Given the description of an element on the screen output the (x, y) to click on. 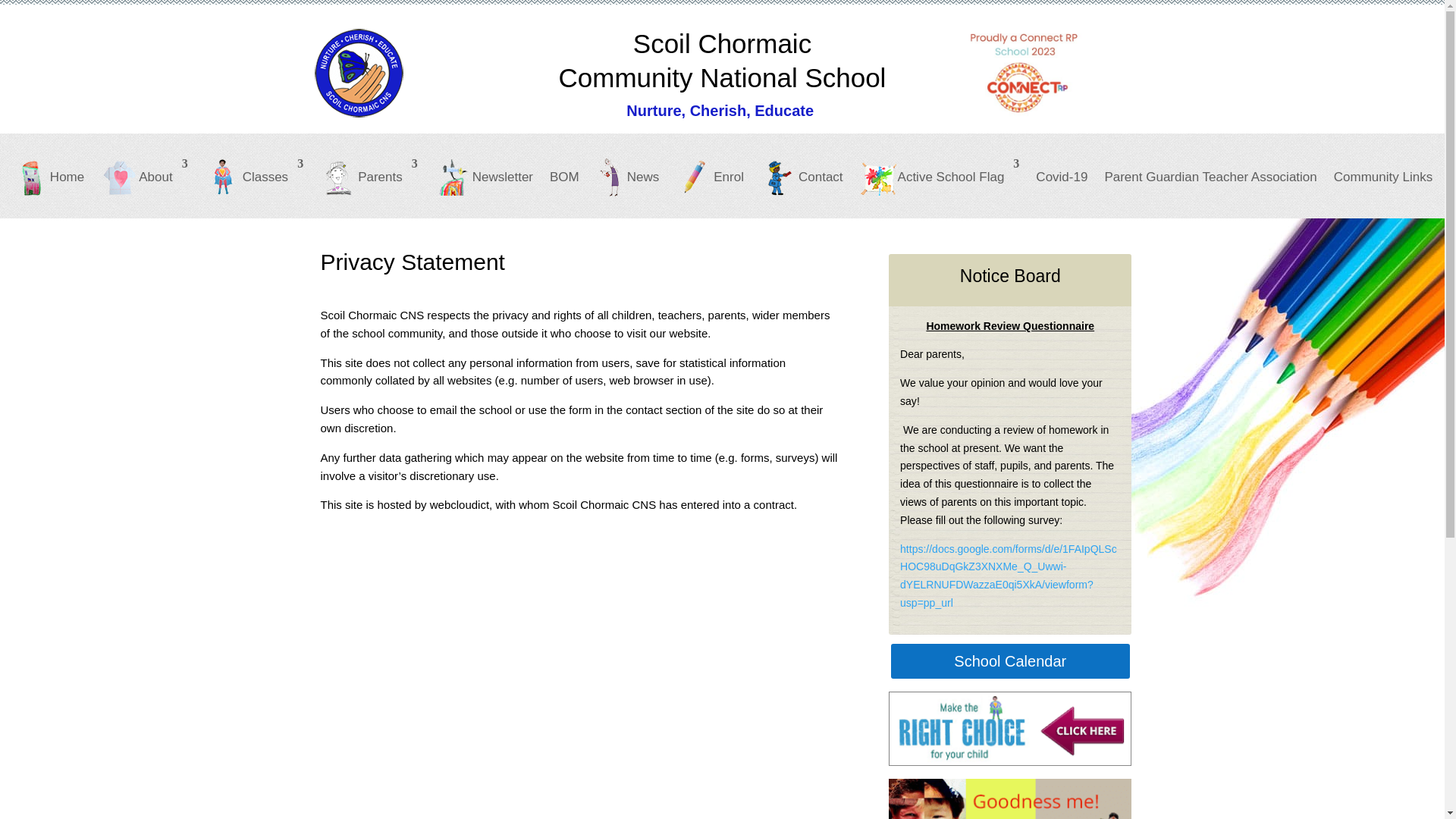
logo-120x120 (358, 72)
ETB-DDL-Logo (1023, 72)
Home (47, 188)
Classes (253, 188)
Homework Review Questionnaire (1007, 575)
banner-maketherightchoice-324x100 (1009, 728)
Newsletter (482, 188)
About (143, 188)
Parents (368, 188)
News (627, 188)
